Given the description of an element on the screen output the (x, y) to click on. 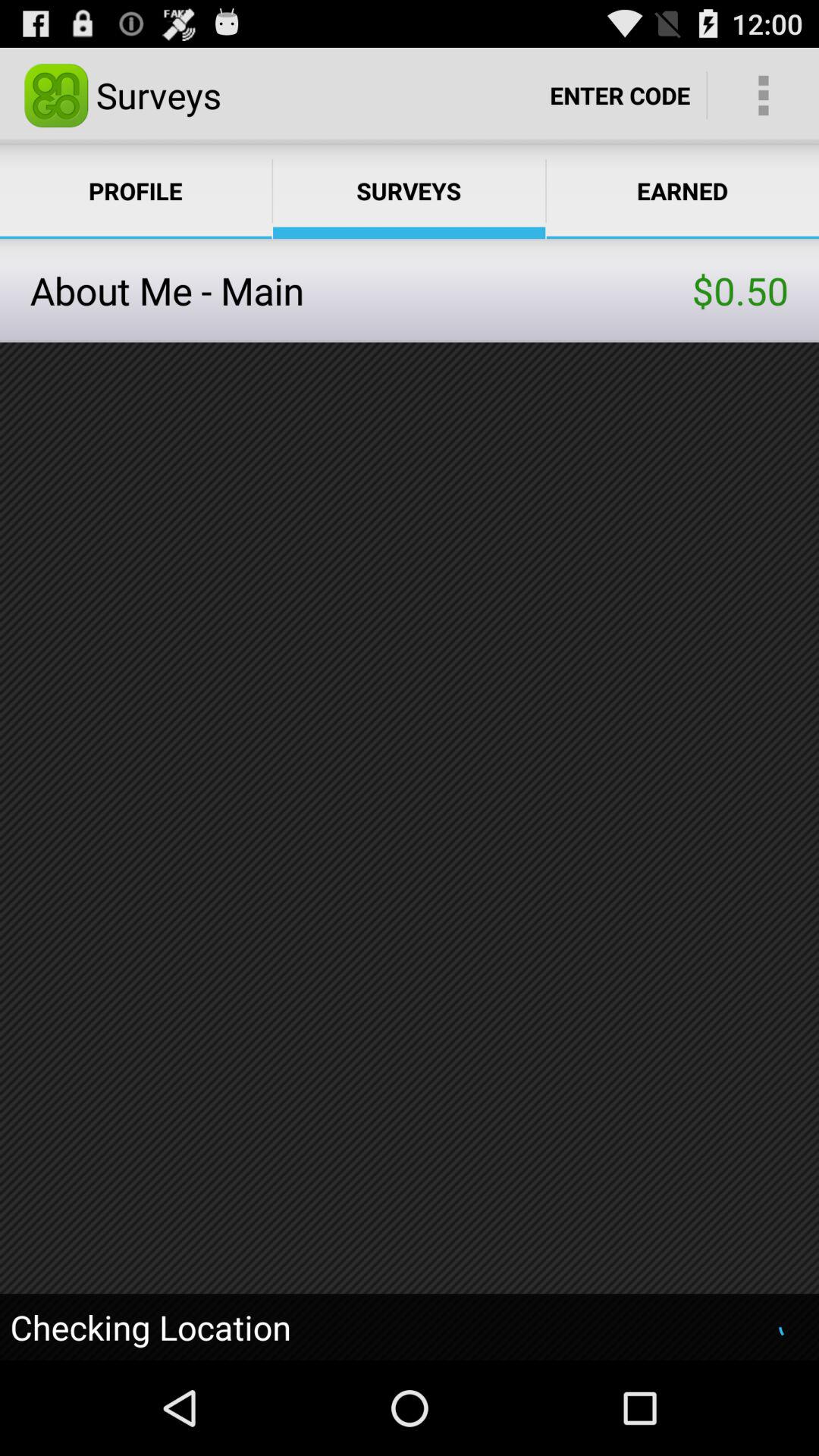
tap enter code icon (620, 95)
